Given the description of an element on the screen output the (x, y) to click on. 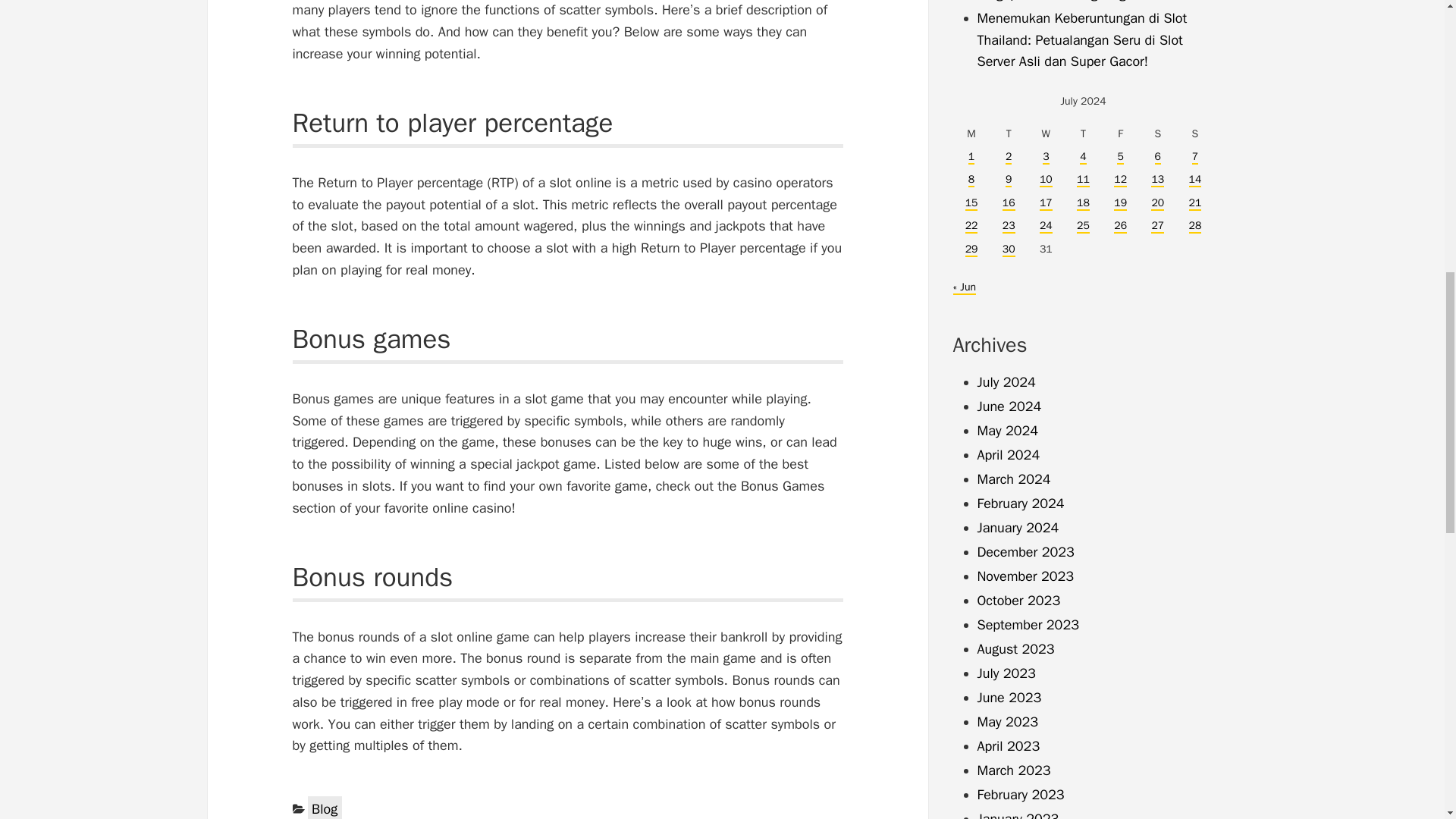
13 (1157, 179)
Blog (324, 807)
Monday (971, 133)
Wednesday (1045, 133)
15 (971, 203)
12 (1119, 179)
11 (1083, 179)
10 (1045, 179)
Sunday (1194, 133)
Friday (1120, 133)
Thursday (1083, 133)
17 (1045, 203)
14 (1195, 179)
Tuesday (1008, 133)
